Given the description of an element on the screen output the (x, y) to click on. 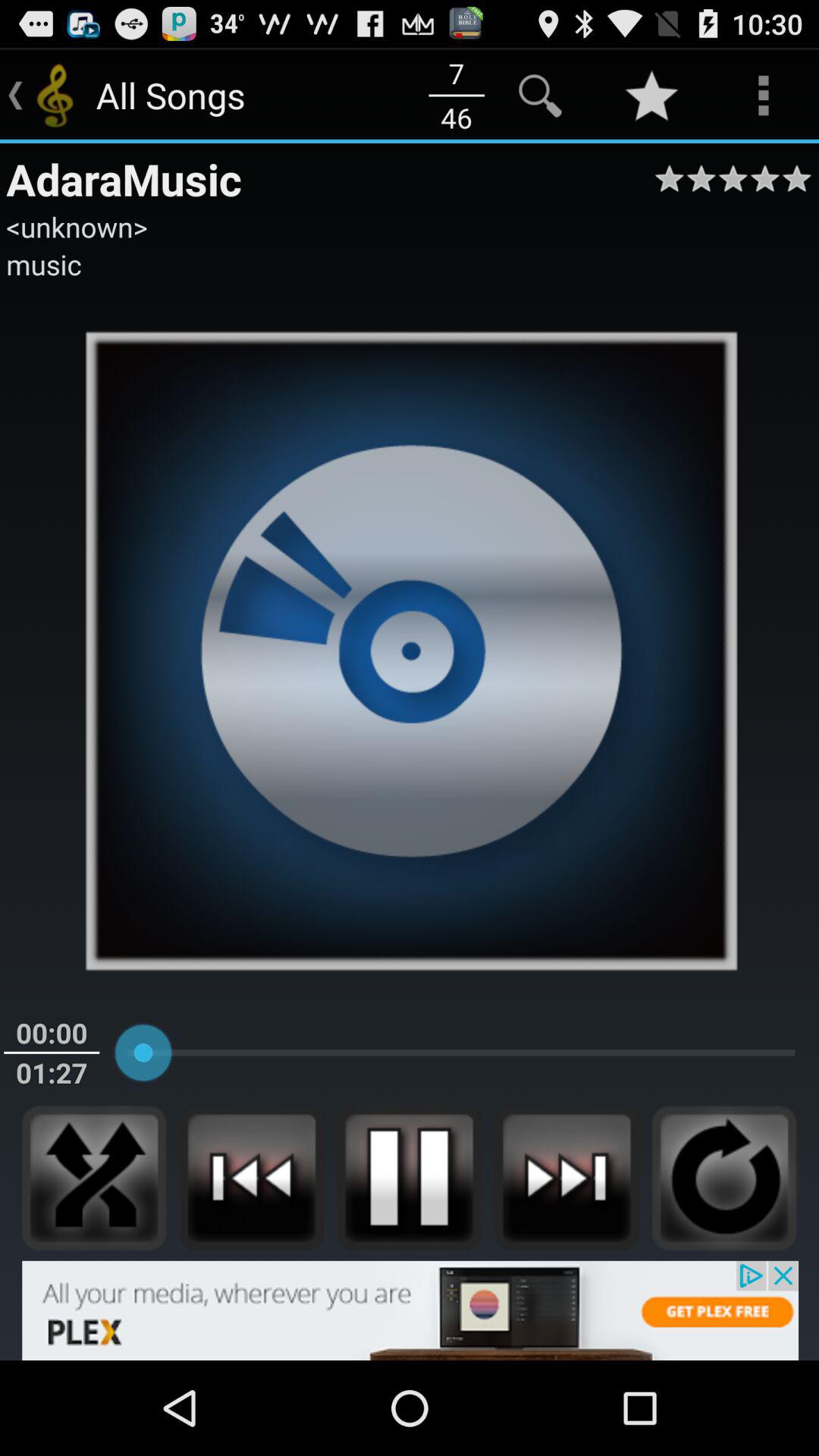
go to previous song (251, 1177)
